Given the description of an element on the screen output the (x, y) to click on. 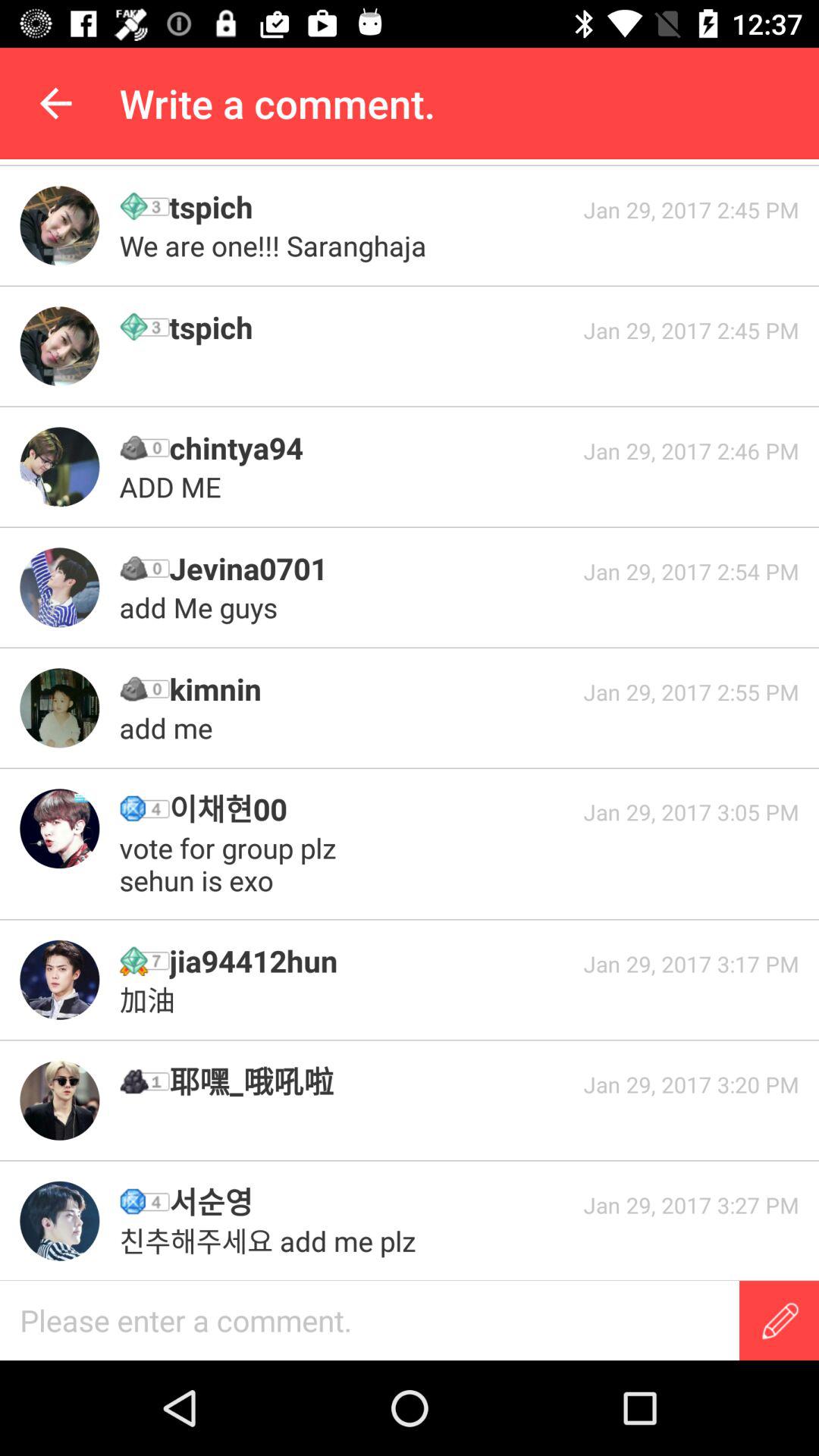
open profile (59, 1100)
